Given the description of an element on the screen output the (x, y) to click on. 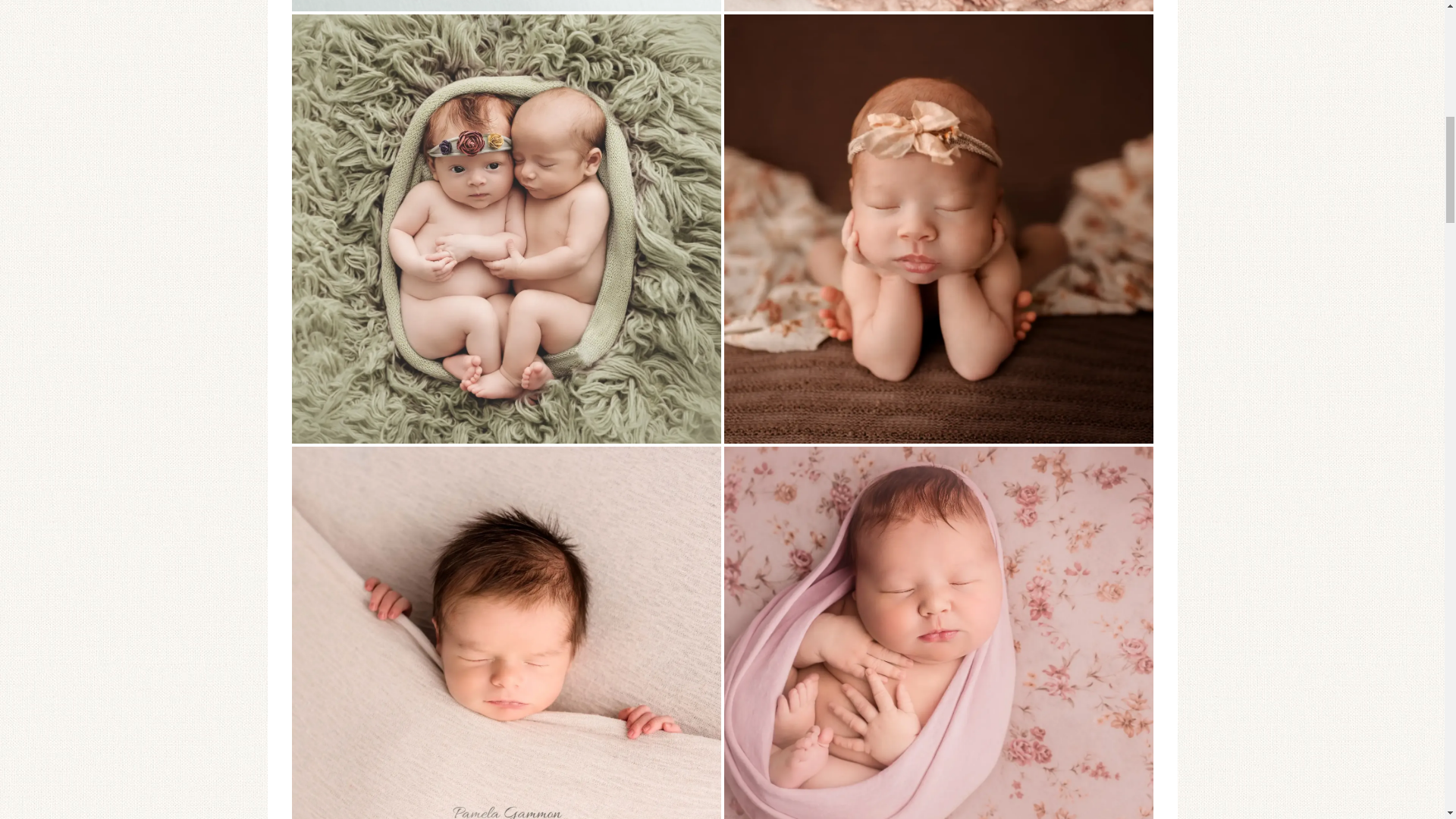
EmmaReeseweb-1 (938, 5)
Josephweb-8 (505, 5)
